Given the description of an element on the screen output the (x, y) to click on. 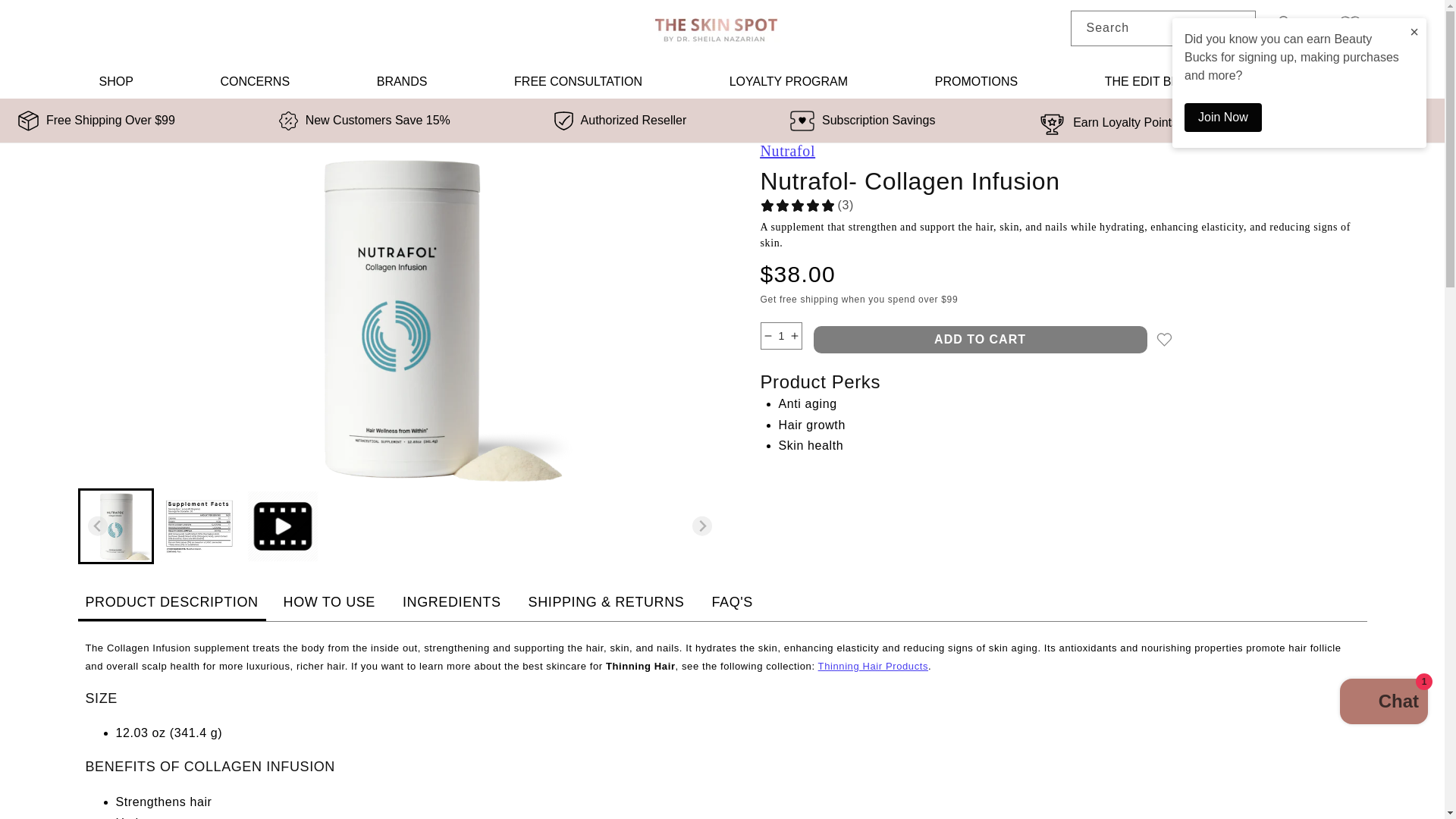
1 (780, 335)
Wishlist (1349, 25)
Shopify online store chat (1383, 703)
Skip to content (45, 17)
